Given the description of an element on the screen output the (x, y) to click on. 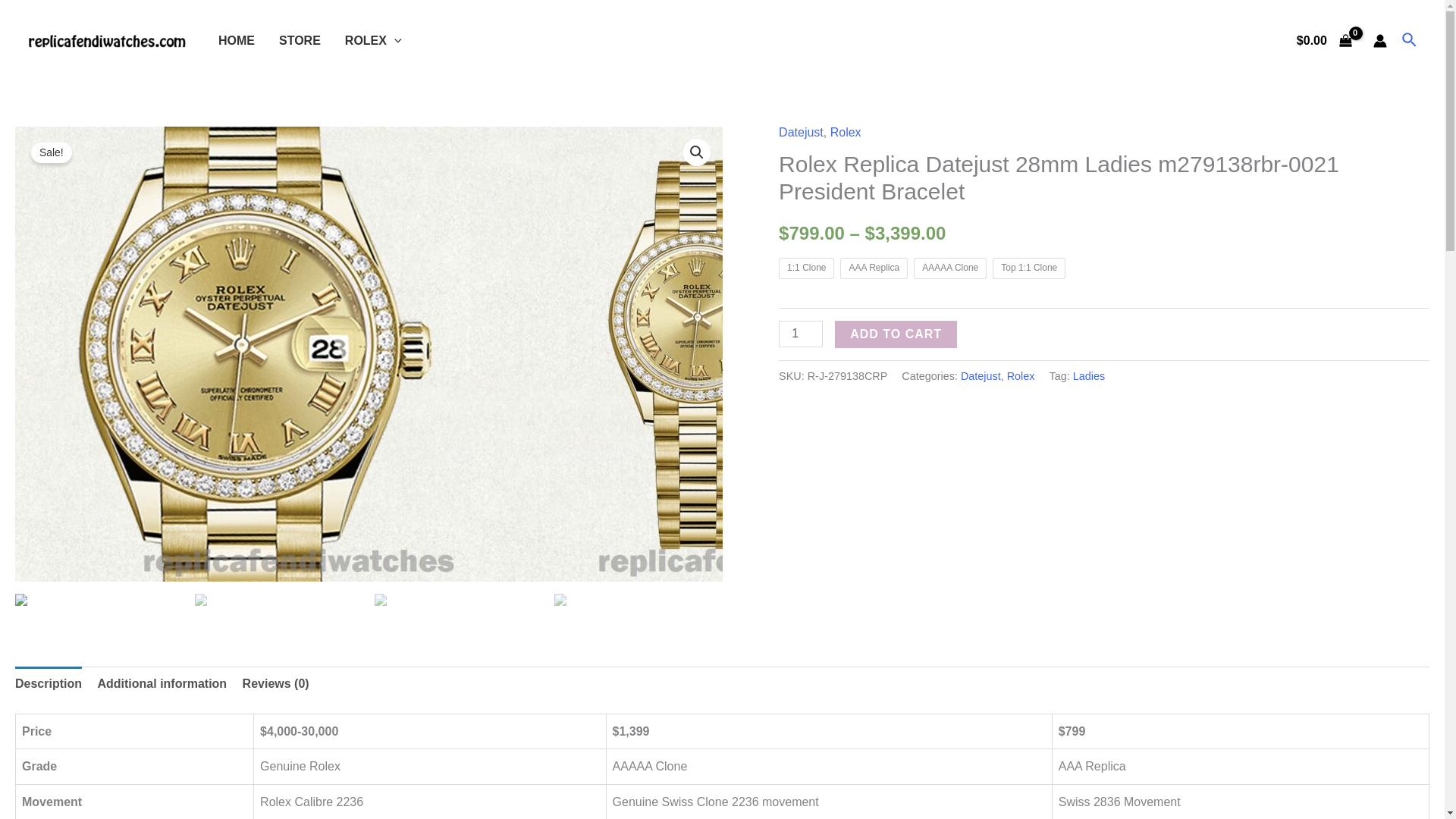
ADD TO CART (895, 334)
Rolex (845, 132)
ROLEX (373, 39)
1 (800, 334)
STORE (299, 39)
HOME (236, 39)
Datejust (801, 132)
Ladies (1089, 376)
Rolex (1021, 376)
Datejust (980, 376)
